Given the description of an element on the screen output the (x, y) to click on. 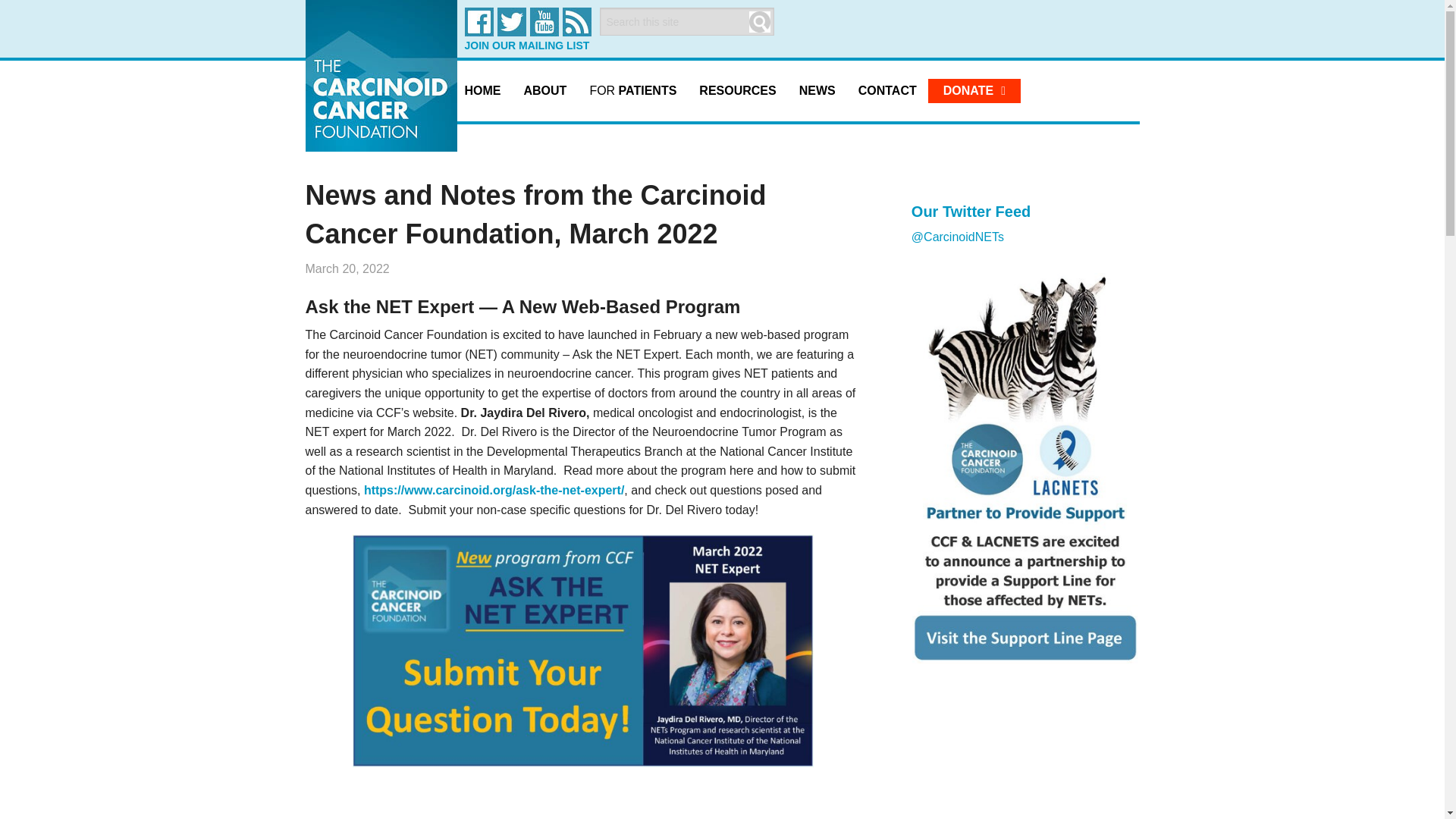
Facebook (478, 21)
RSS (576, 21)
BOARD MEMBERS (543, 248)
FINANCIAL DISCLOSURE (543, 321)
CCF STAFF (543, 284)
ABOUT THE FOUNDATION (543, 139)
Search (759, 21)
CCF on YouTube (543, 21)
Twitter (511, 21)
TREATMENT (630, 176)
OUR FOUNDER (543, 176)
JOIN OUR MAILING LIST (531, 45)
DIAGNOSIS (630, 139)
ABOUT (545, 90)
CCF RSS Feed (576, 21)
